Given the description of an element on the screen output the (x, y) to click on. 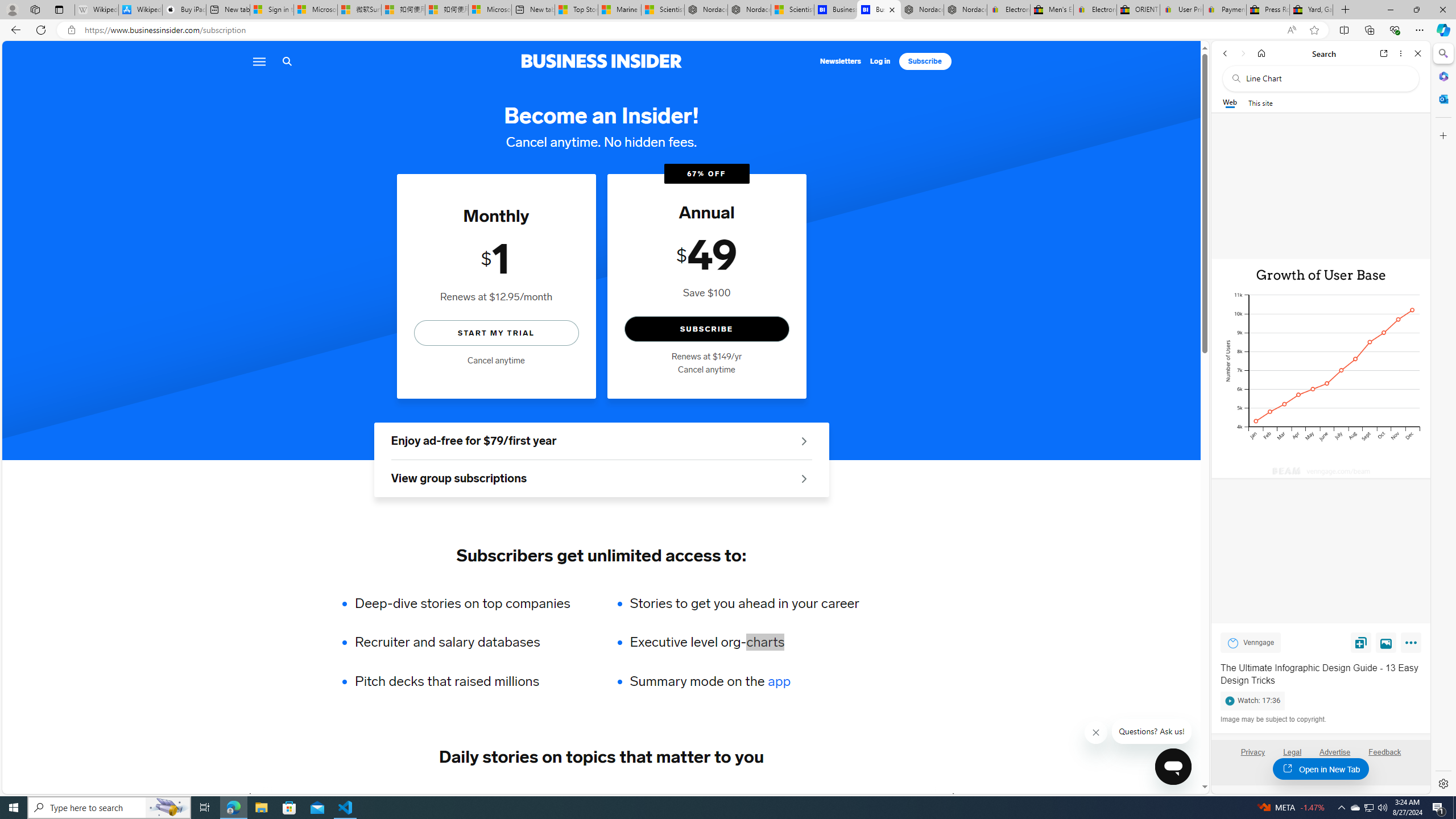
SUBSCRIBE (706, 329)
Go to the search page. (286, 61)
Business Insider logo (601, 60)
MEDIA (953, 796)
Deep-dive stories on top companies (470, 602)
Class: sc-1uf0igr-1 fjHZYk (1096, 732)
Recruiter and salary databases (470, 642)
